Given the description of an element on the screen output the (x, y) to click on. 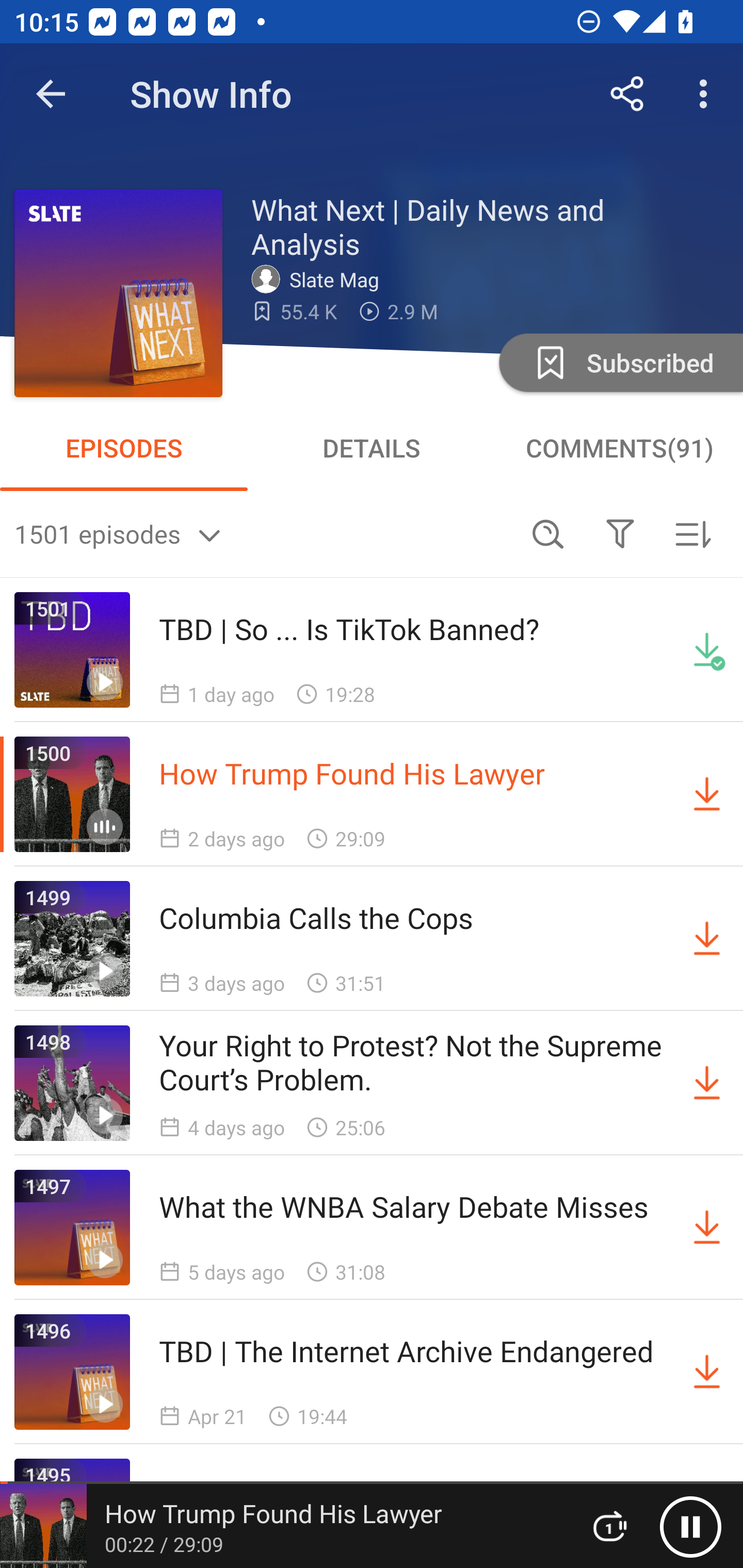
Navigate up (50, 93)
Share (626, 93)
More options (706, 93)
Slate Mag (319, 278)
Unsubscribe Subscribed (619, 361)
EPISODES (123, 447)
DETAILS (371, 447)
COMMENTS(91) (619, 447)
1501 episodes  (262, 533)
 Search (547, 533)
 (619, 533)
 Sorted by newest first (692, 533)
Downloaded (706, 649)
Download (706, 793)
Download (706, 939)
Download (706, 1083)
Download (706, 1227)
Download (706, 1371)
How Trump Found His Lawyer 00:22 / 29:09 (283, 1525)
Pause (690, 1526)
